Given the description of an element on the screen output the (x, y) to click on. 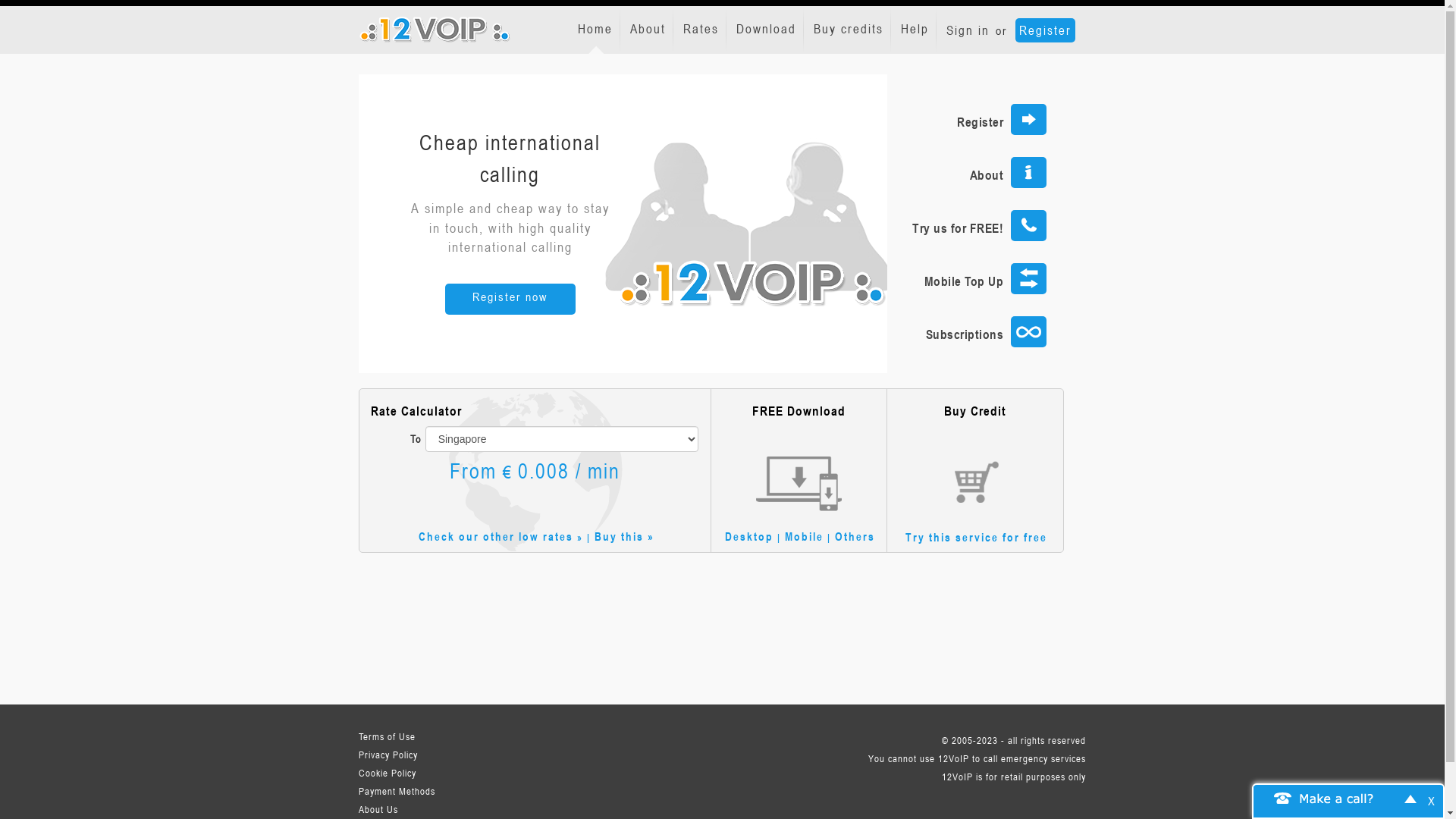
X Element type: text (1435, 800)
Make a call? Element type: text (1336, 797)
Rates Element type: text (701, 30)
Register Element type: text (966, 119)
Mobile Top Up Element type: text (966, 278)
Home Element type: text (596, 30)
Buy Credit Element type: text (974, 457)
Privacy Policy Element type: text (418, 754)
Payment Methods Element type: text (418, 790)
Try us for FREE! Element type: text (966, 225)
Check our other low rates Element type: text (495, 535)
About Element type: text (966, 172)
Subscriptions Element type: text (966, 331)
Mobile Element type: text (803, 535)
Help Element type: text (915, 30)
Desktop Element type: text (748, 535)
Sign in Element type: text (964, 32)
FREE Download Element type: text (798, 457)
Buy credits Element type: text (848, 30)
About Element type: text (647, 30)
Terms of Use Element type: text (418, 736)
Register now Element type: text (509, 298)
Others Element type: text (854, 535)
Register Element type: text (1044, 30)
Download Element type: text (766, 30)
Try this service for free Element type: text (976, 536)
Cookie Policy Element type: text (418, 772)
About Us Element type: text (418, 809)
